Given the description of an element on the screen output the (x, y) to click on. 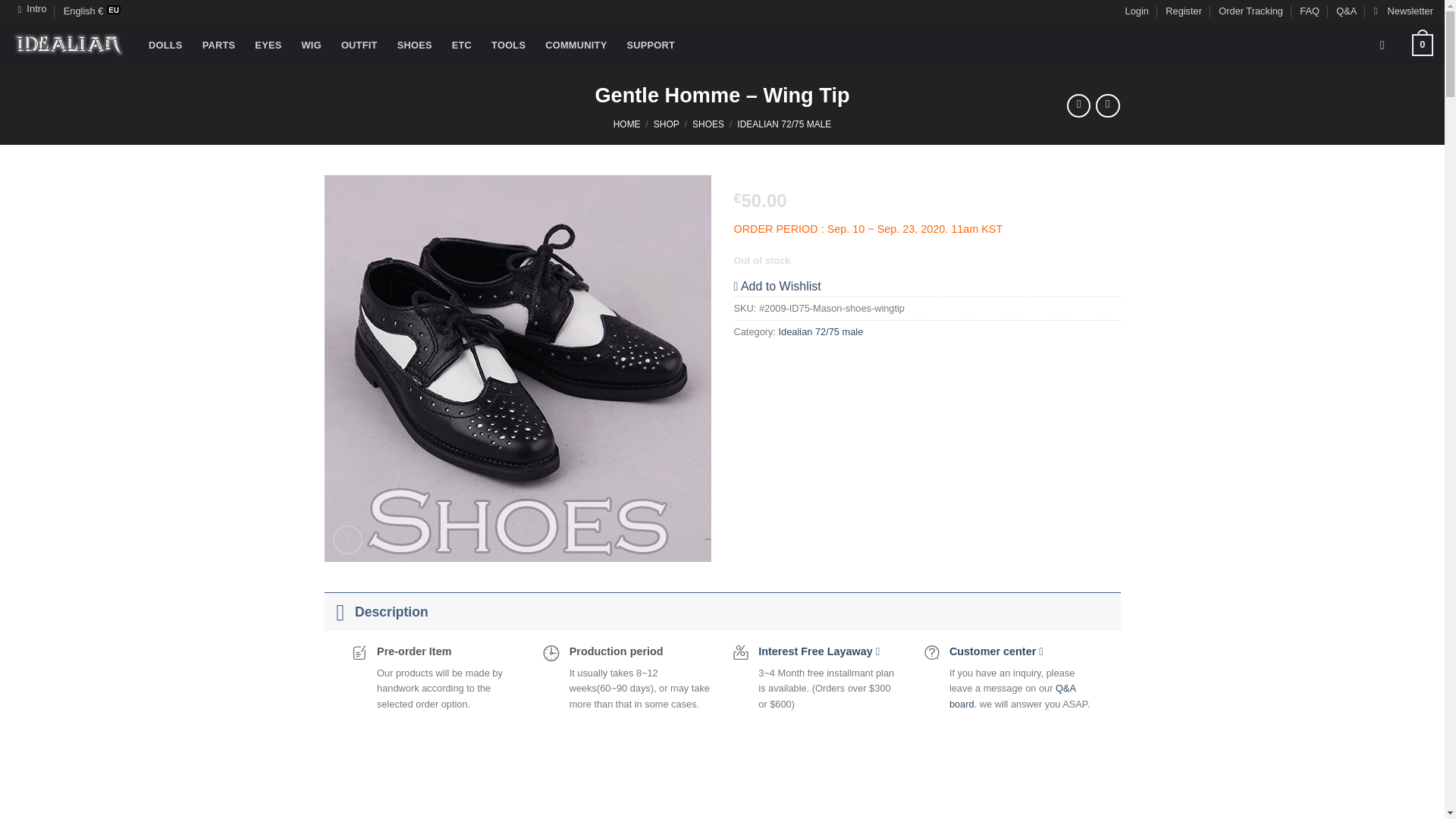
DOLLS (165, 44)
Idealian Dolls (165, 44)
Register (1184, 11)
IDEALIAN - the SOOM emporium (68, 44)
  Intro (31, 9)
Newsletter (1403, 11)
Order Tracking (1250, 11)
Sign up for Newsletter (1403, 11)
Choose a Brand Store (31, 9)
Login (1136, 11)
